Given the description of an element on the screen output the (x, y) to click on. 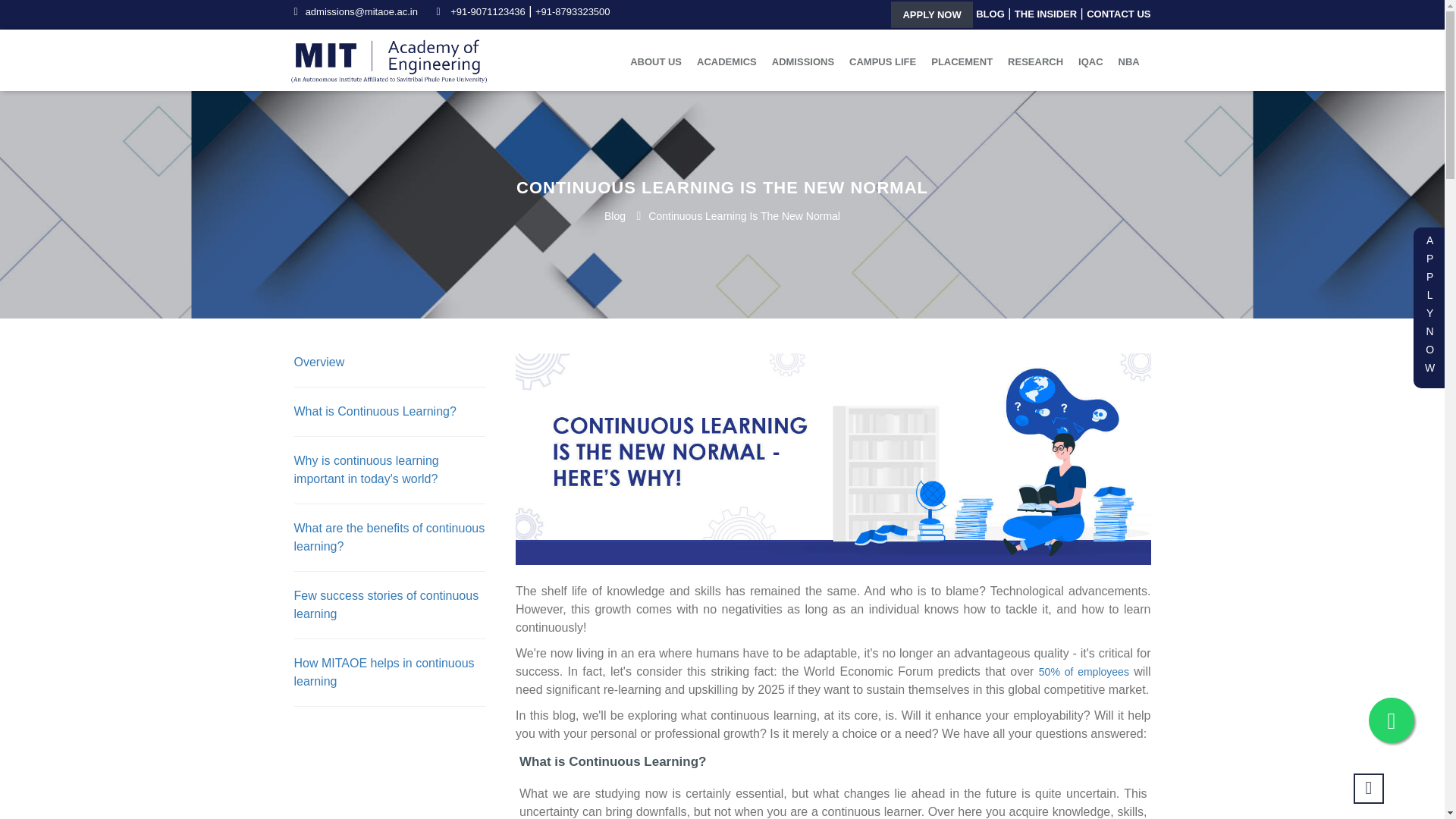
ABOUT US (655, 62)
BLOG (989, 13)
ADMISSIONS (802, 62)
THE INSIDER (1045, 13)
ACADEMICS (727, 62)
APPLY NOW (931, 13)
CAMPUS LIFE (881, 62)
APPLY NOW (931, 14)
CONTACT US (1118, 13)
